Given the description of an element on the screen output the (x, y) to click on. 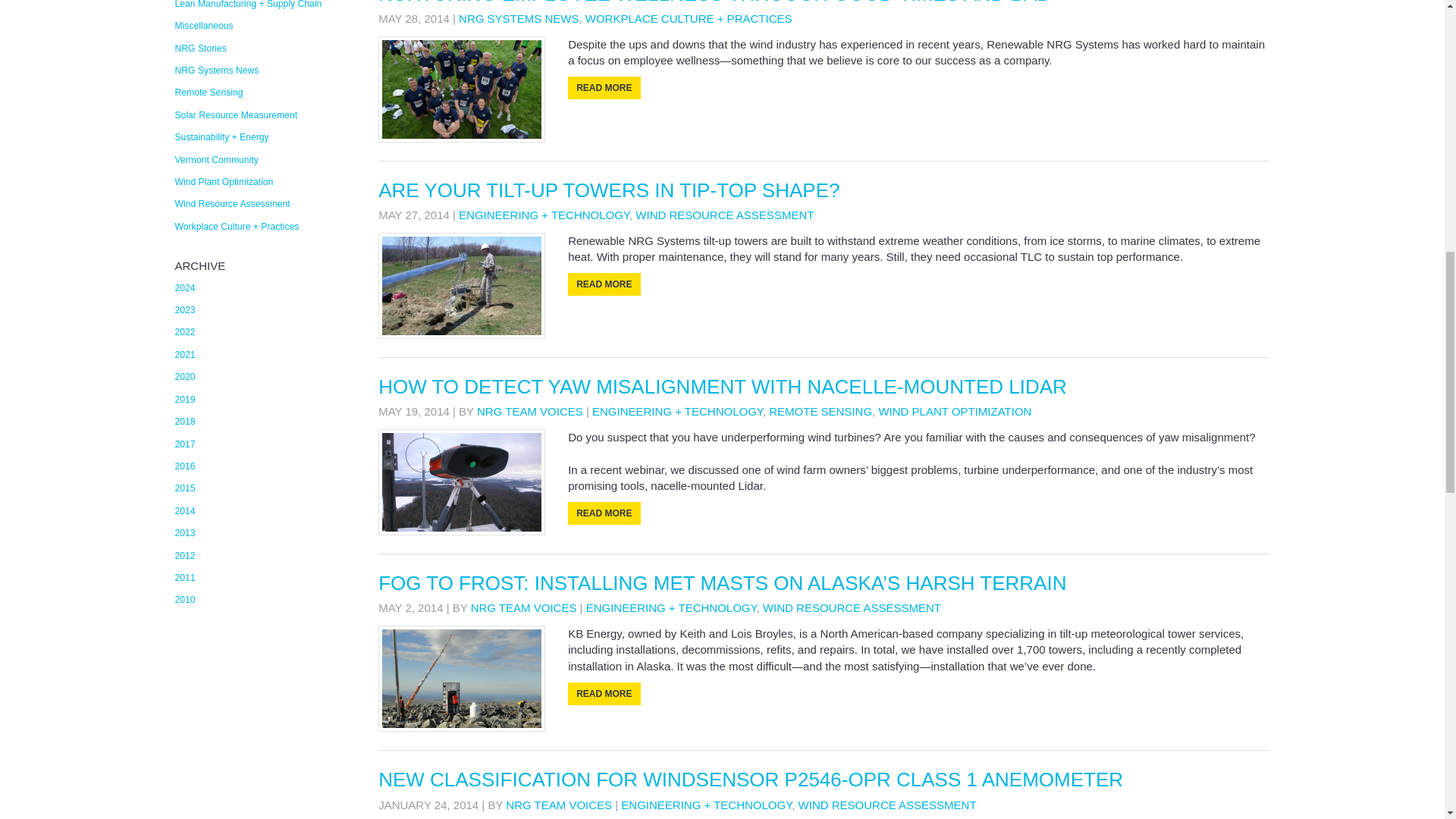
NRG Systems News (518, 18)
Wind Resource Assessment (723, 214)
Wind Plant Optimization (953, 410)
Wind Resource Assessment (886, 803)
Remote Sensing (820, 410)
Wind Resource Assessment (851, 607)
